Given the description of an element on the screen output the (x, y) to click on. 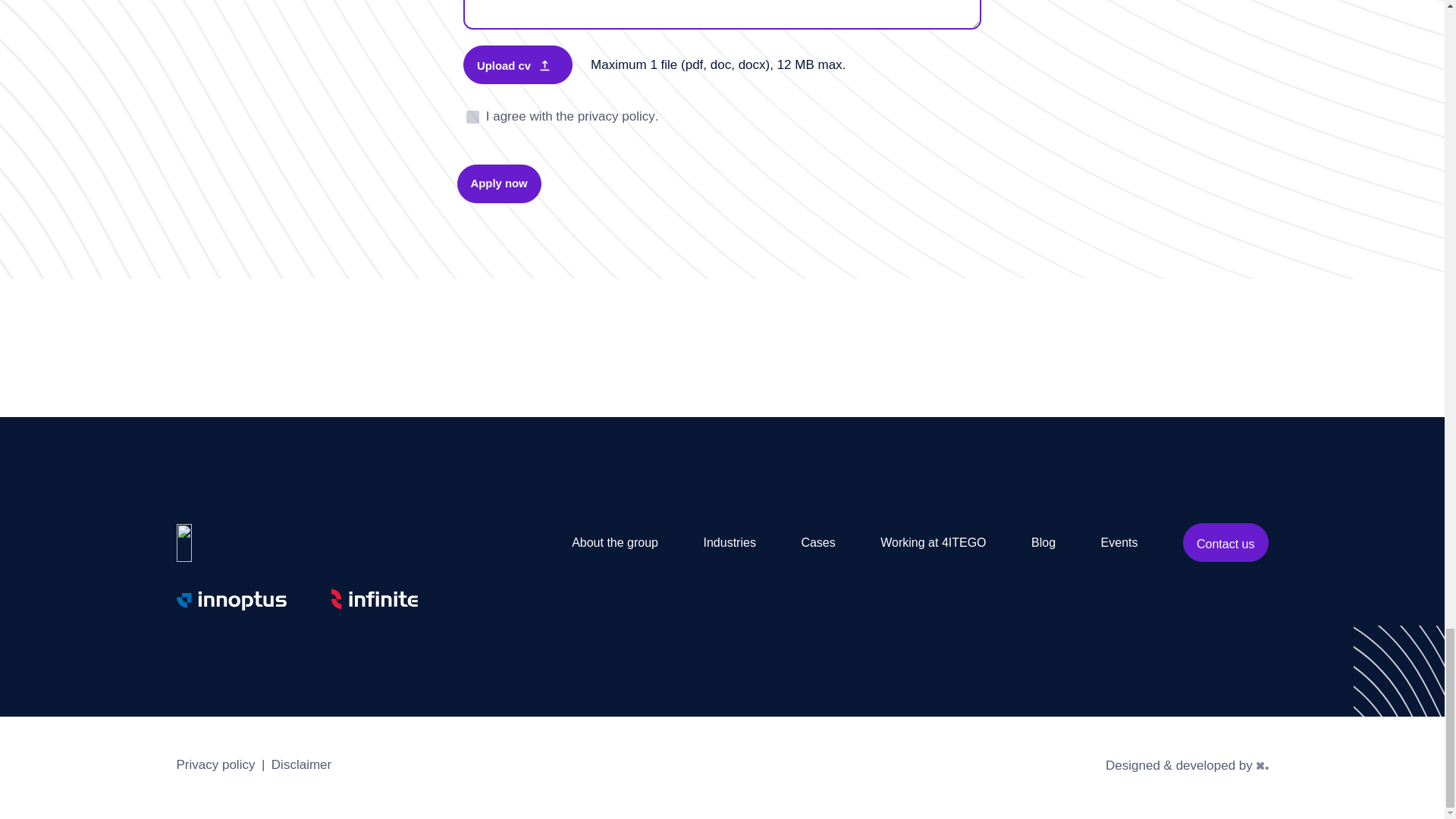
Apply now (498, 183)
Blog (1042, 542)
Privacy policy (215, 767)
Events (1119, 542)
Cases (817, 542)
Industries (729, 542)
on (472, 116)
Working at 4ITEGO (932, 542)
About the group (615, 542)
Contact us (1225, 542)
privacy policy (616, 116)
Disclaimer (300, 767)
